Given the description of an element on the screen output the (x, y) to click on. 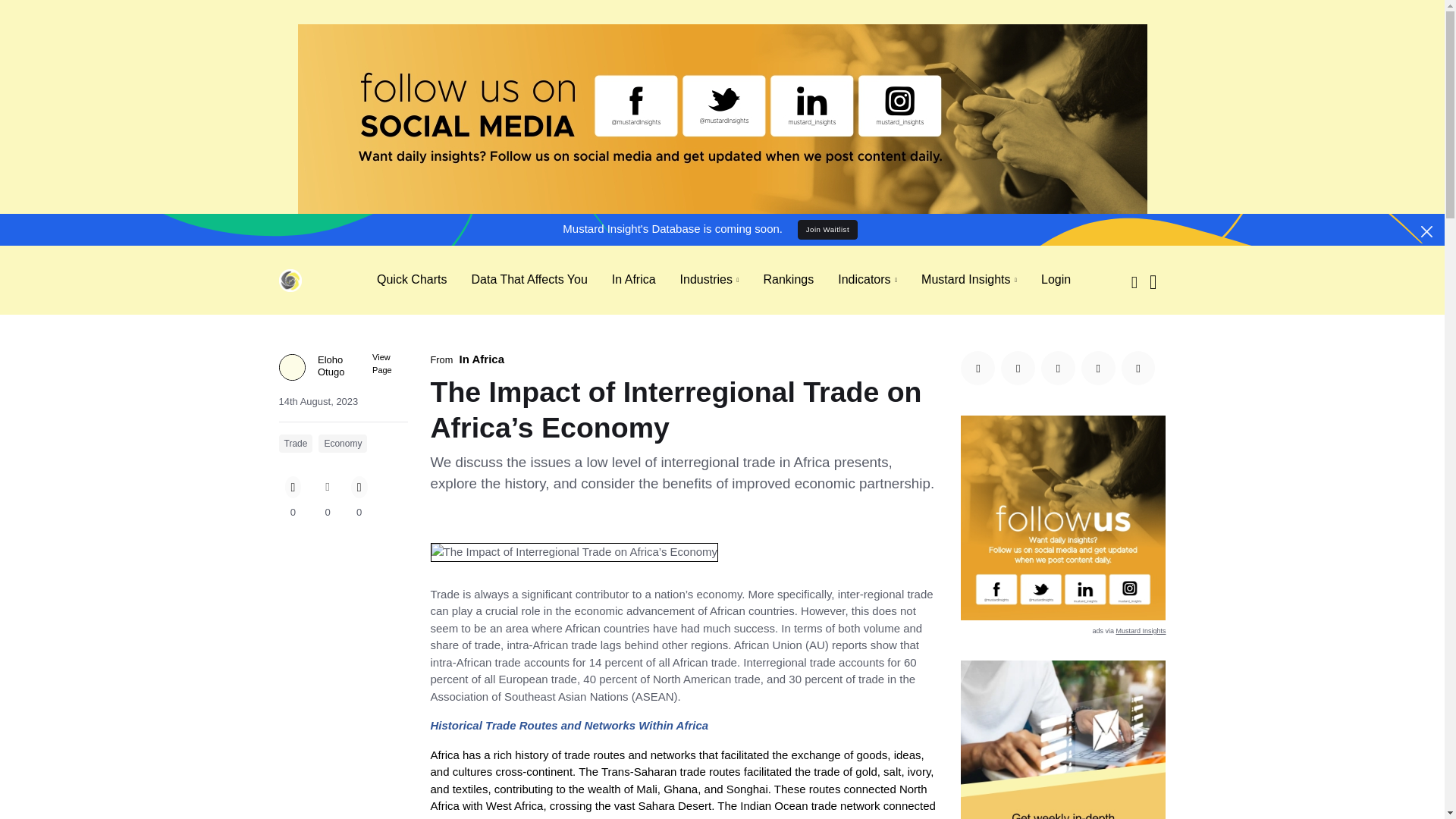
Quick Charts (411, 279)
In Africa (481, 358)
share on whatsapp (1138, 367)
Mustard Insights (968, 279)
From (445, 360)
Join Waitlist (827, 229)
share on facebook (977, 367)
Economy (342, 443)
share via mail (1098, 367)
Trade (296, 443)
Rankings (788, 279)
In Africa (633, 279)
Eloho Otugo (341, 370)
Data That Affects You (528, 279)
